Given the description of an element on the screen output the (x, y) to click on. 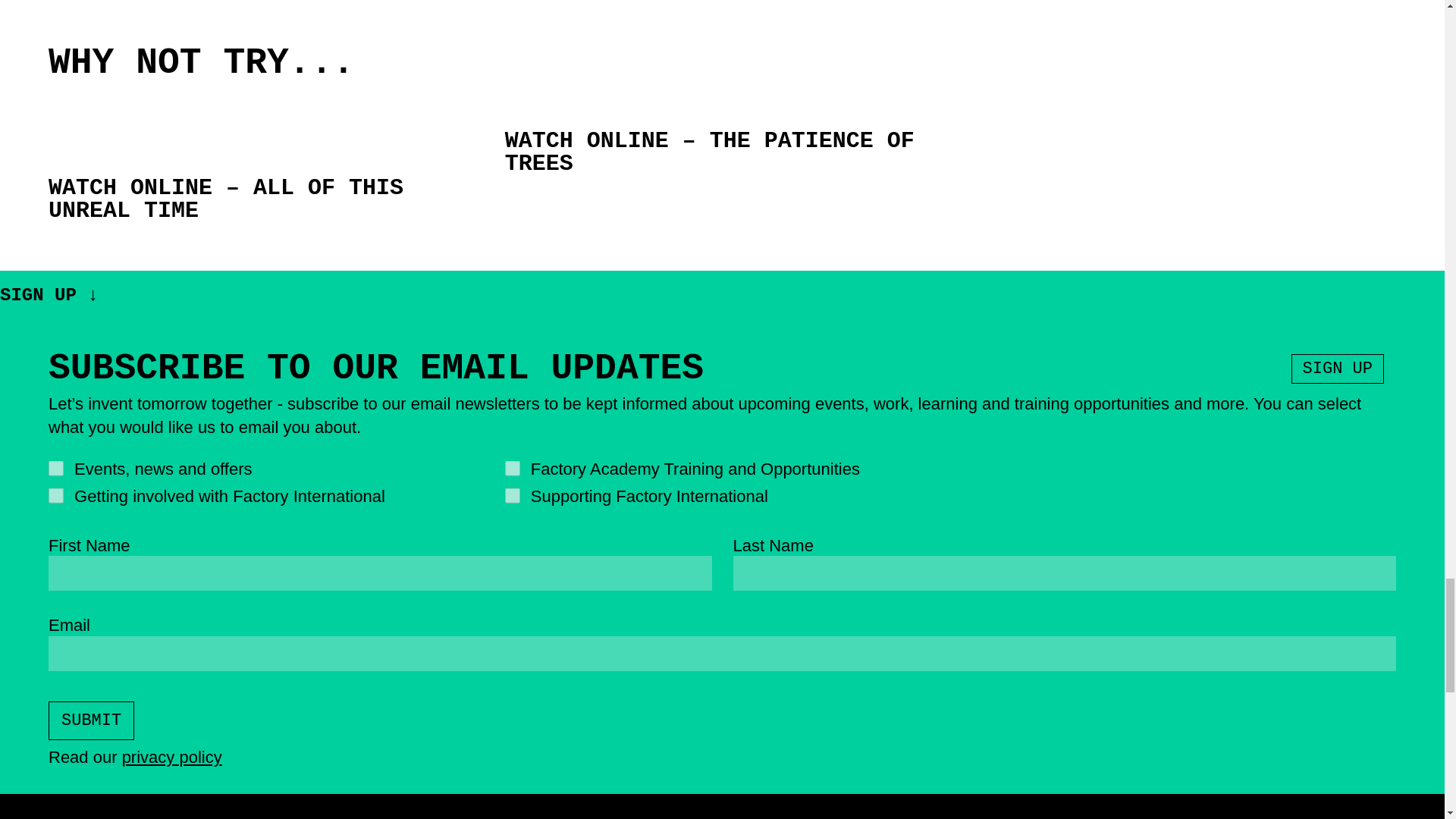
13 (512, 468)
4 (56, 468)
2 (56, 495)
12 (512, 495)
